Given the description of an element on the screen output the (x, y) to click on. 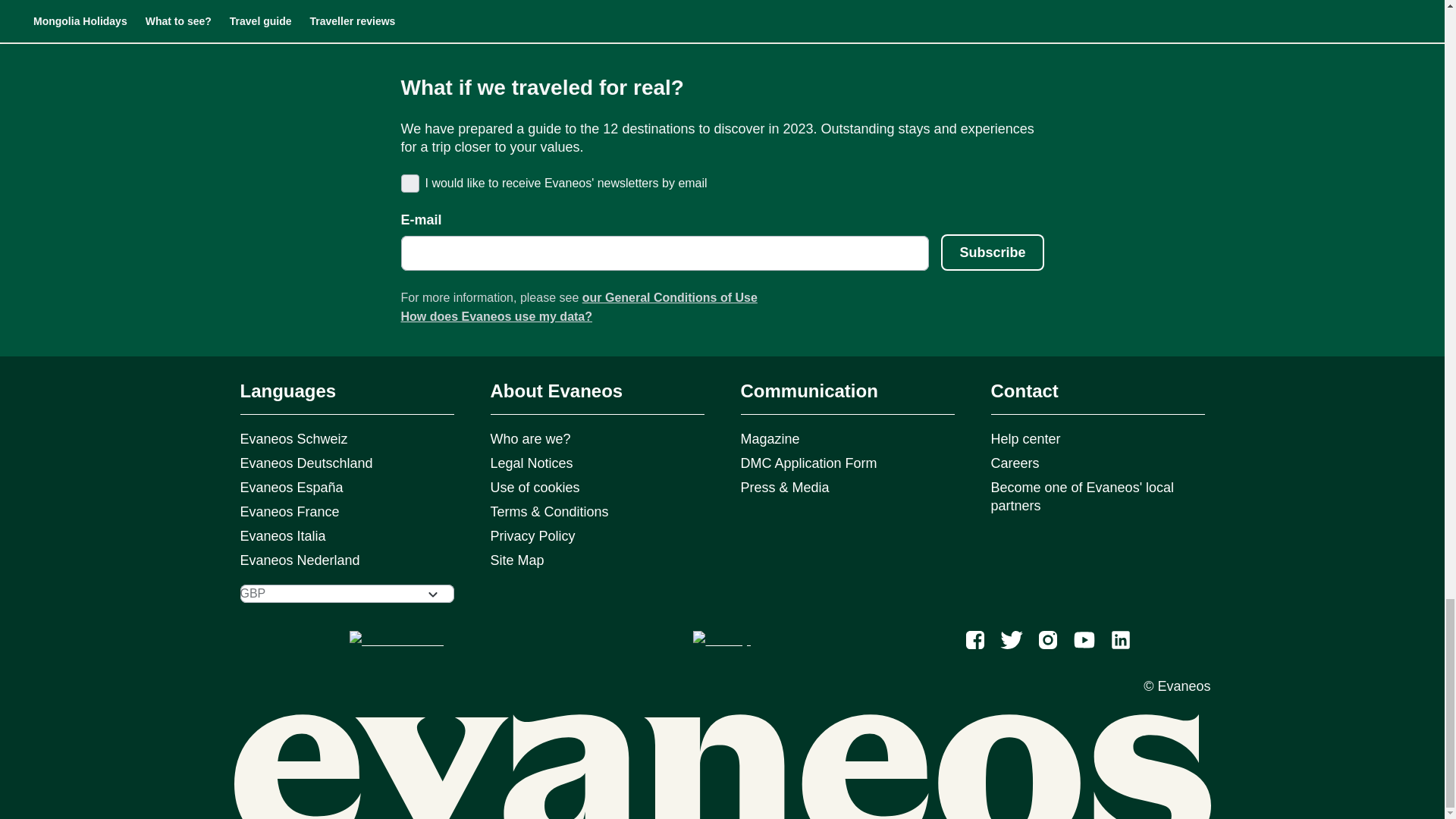
The advantages of Evaneos (300, 3)
Our Better Trips promise (430, 3)
The best local agencies (722, 3)
Who are we? (559, 3)
on (408, 182)
